Given the description of an element on the screen output the (x, y) to click on. 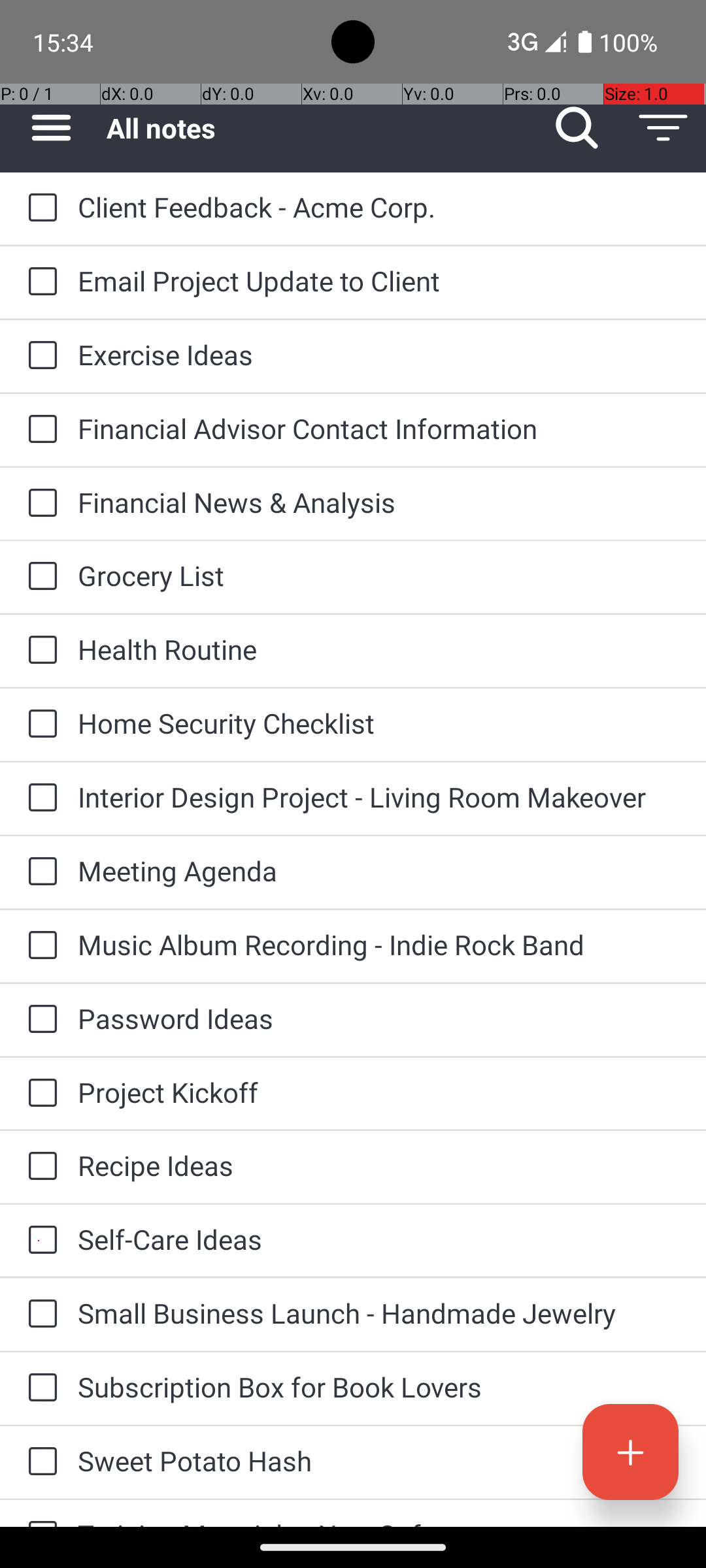
to-do: Client Feedback - Acme Corp. Element type: android.widget.CheckBox (38, 208)
Client Feedback - Acme Corp. Element type: android.widget.TextView (378, 206)
to-do: Email Project Update to Client Element type: android.widget.CheckBox (38, 282)
Email Project Update to Client Element type: android.widget.TextView (378, 280)
to-do: Exercise Ideas Element type: android.widget.CheckBox (38, 356)
Exercise Ideas Element type: android.widget.TextView (378, 354)
to-do: Financial News & Analysis Element type: android.widget.CheckBox (38, 503)
Financial News & Analysis Element type: android.widget.TextView (378, 501)
to-do: Grocery List Element type: android.widget.CheckBox (38, 576)
Grocery List Element type: android.widget.TextView (378, 574)
to-do: Health Routine Element type: android.widget.CheckBox (38, 650)
Health Routine Element type: android.widget.TextView (378, 648)
to-do: Home Security Checklist Element type: android.widget.CheckBox (38, 724)
Home Security Checklist Element type: android.widget.TextView (378, 722)
to-do: Interior Design Project - Living Room Makeover Element type: android.widget.CheckBox (38, 798)
Interior Design Project - Living Room Makeover Element type: android.widget.TextView (378, 796)
to-do: Meeting Agenda Element type: android.widget.CheckBox (38, 872)
Meeting Agenda Element type: android.widget.TextView (378, 870)
to-do: Music Album Recording - Indie Rock Band Element type: android.widget.CheckBox (38, 945)
Music Album Recording - Indie Rock Band Element type: android.widget.TextView (378, 944)
to-do: Password Ideas Element type: android.widget.CheckBox (38, 1019)
Password Ideas Element type: android.widget.TextView (378, 1017)
to-do: Project Kickoff Element type: android.widget.CheckBox (38, 1093)
Project Kickoff Element type: android.widget.TextView (378, 1091)
to-do: Recipe Ideas Element type: android.widget.CheckBox (38, 1166)
Recipe Ideas Element type: android.widget.TextView (378, 1164)
to-do: Self-Care Ideas Element type: android.widget.CheckBox (38, 1240)
Self-Care Ideas Element type: android.widget.TextView (378, 1238)
to-do: Small Business Launch - Handmade Jewelry Element type: android.widget.CheckBox (38, 1314)
Small Business Launch - Handmade Jewelry Element type: android.widget.TextView (378, 1312)
to-do: Subscription Box for Book Lovers Element type: android.widget.CheckBox (38, 1388)
Subscription Box for Book Lovers Element type: android.widget.TextView (378, 1386)
to-do: Sweet Potato Hash Element type: android.widget.CheckBox (38, 1462)
Sweet Potato Hash Element type: android.widget.TextView (378, 1460)
to-do: Training Materials - New Software Element type: android.widget.CheckBox (38, 1513)
Training Materials - New Software Element type: android.widget.TextView (378, 1520)
